Given the description of an element on the screen output the (x, y) to click on. 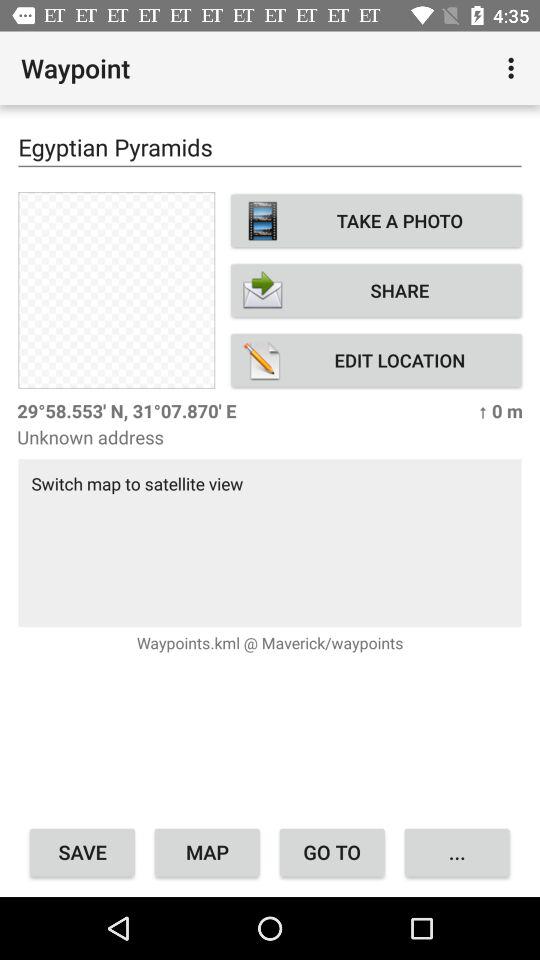
launch item to the left of the take a photo item (116, 290)
